Given the description of an element on the screen output the (x, y) to click on. 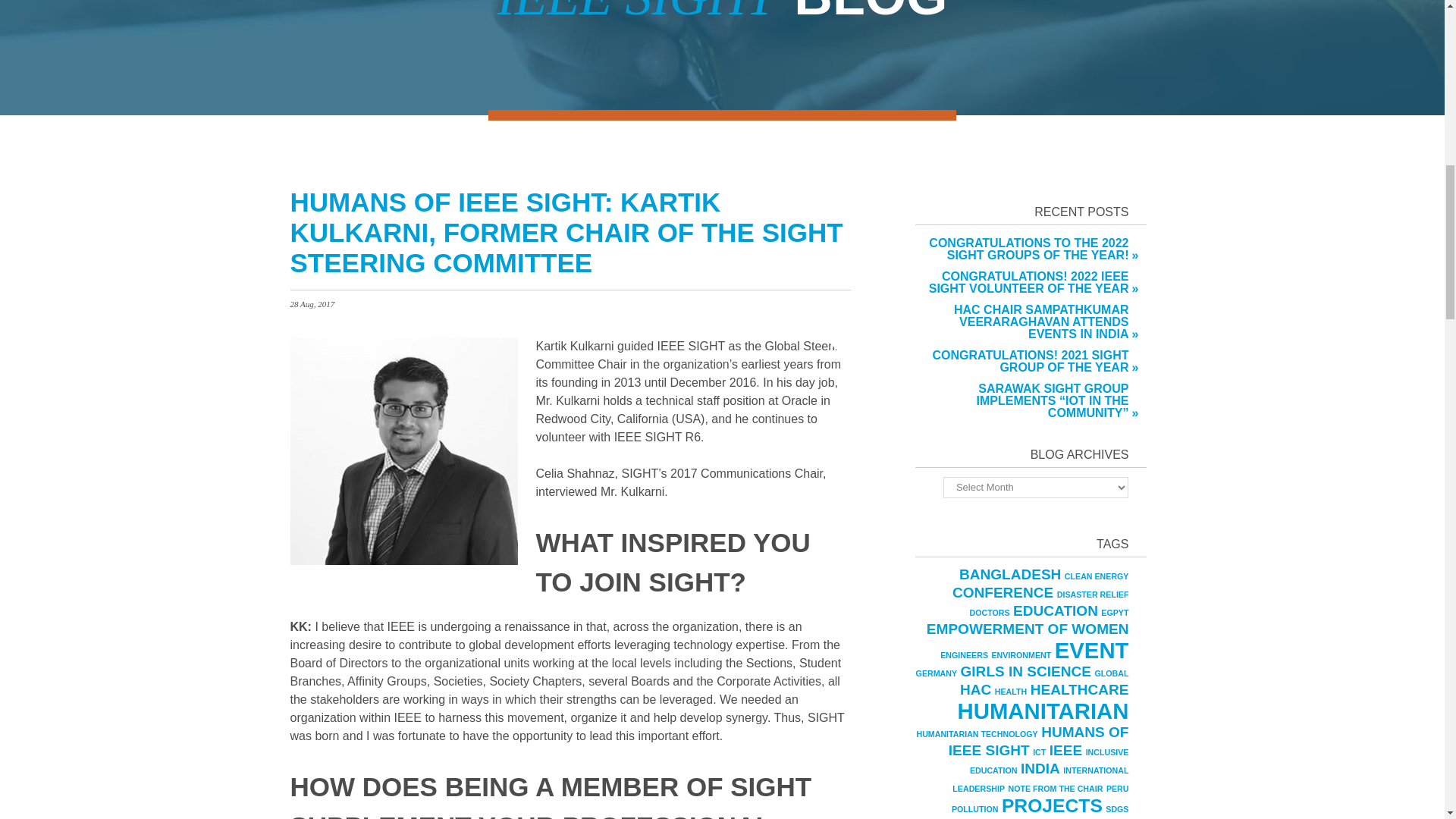
CONFERENCE (1002, 592)
EMPOWERMENT OF WOMEN (1027, 628)
HAC CHAIR SAMPATHKUMAR VEERARAGHAVAN ATTENDS EVENTS IN INDIA (1022, 321)
EGPYT (1114, 612)
CONGRATULATIONS TO THE 2022 SIGHT GROUPS OF THE YEAR! (1022, 249)
CONGRATULATIONS! 2021 SIGHT GROUP OF THE YEAR (1022, 361)
ENVIRONMENT (1021, 655)
DISASTER RELIEF (1093, 593)
CLEAN ENERGY (1096, 575)
